Given the description of an element on the screen output the (x, y) to click on. 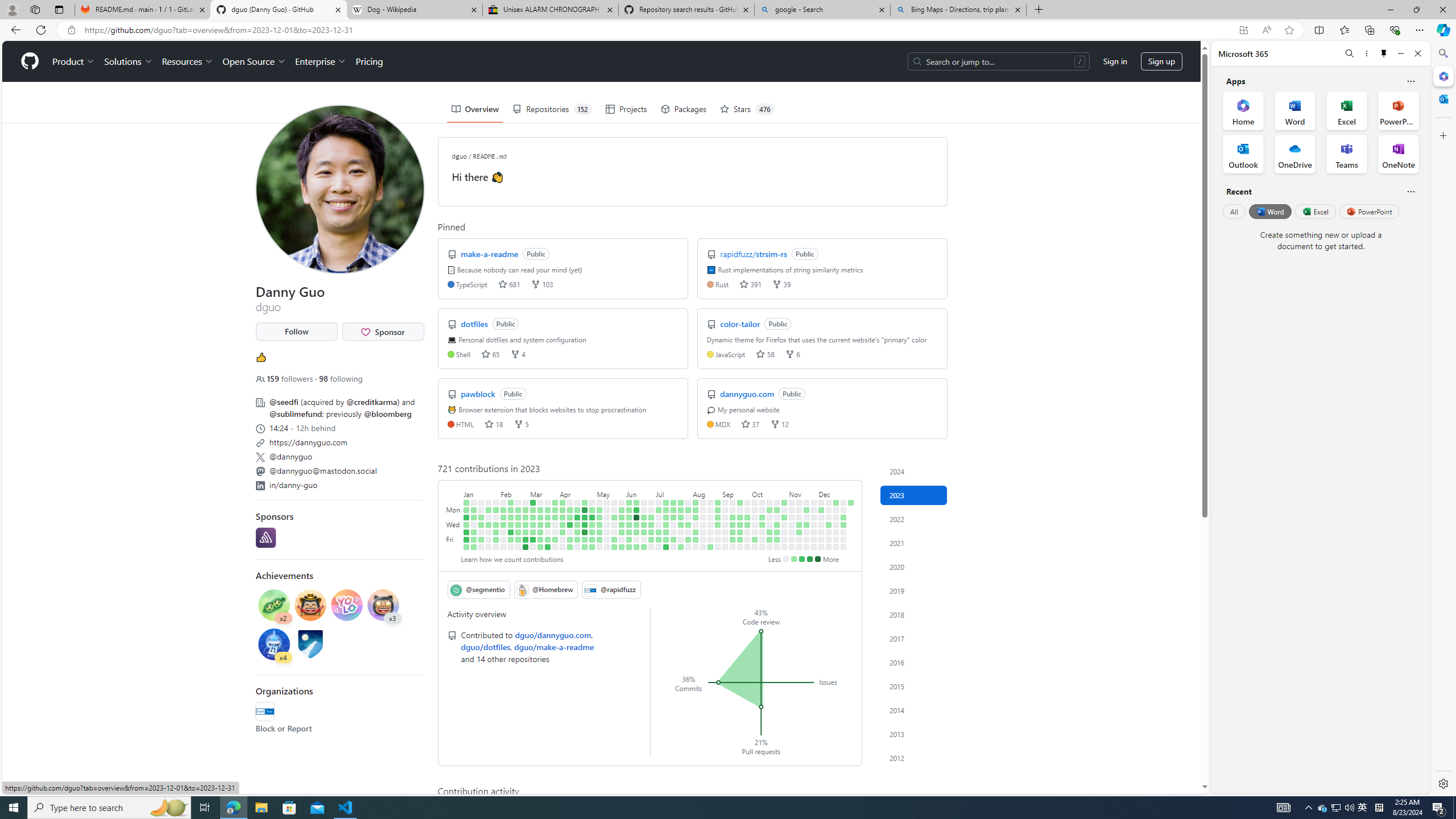
1 contribution on January 10th. (473, 517)
No contributions on August 22nd. (710, 517)
8 contributions on March 21st. (547, 517)
Product (74, 60)
No contributions on August 15th. (703, 517)
Product (74, 60)
1 contribution on August 6th. (695, 502)
@dguo (263, 54)
Achievement: YOLO (346, 605)
Saturday (454, 546)
1 contribution on January 30th. (496, 509)
No contributions on September 5th. (725, 517)
No contributions on May 7th. (599, 502)
